Given the description of an element on the screen output the (x, y) to click on. 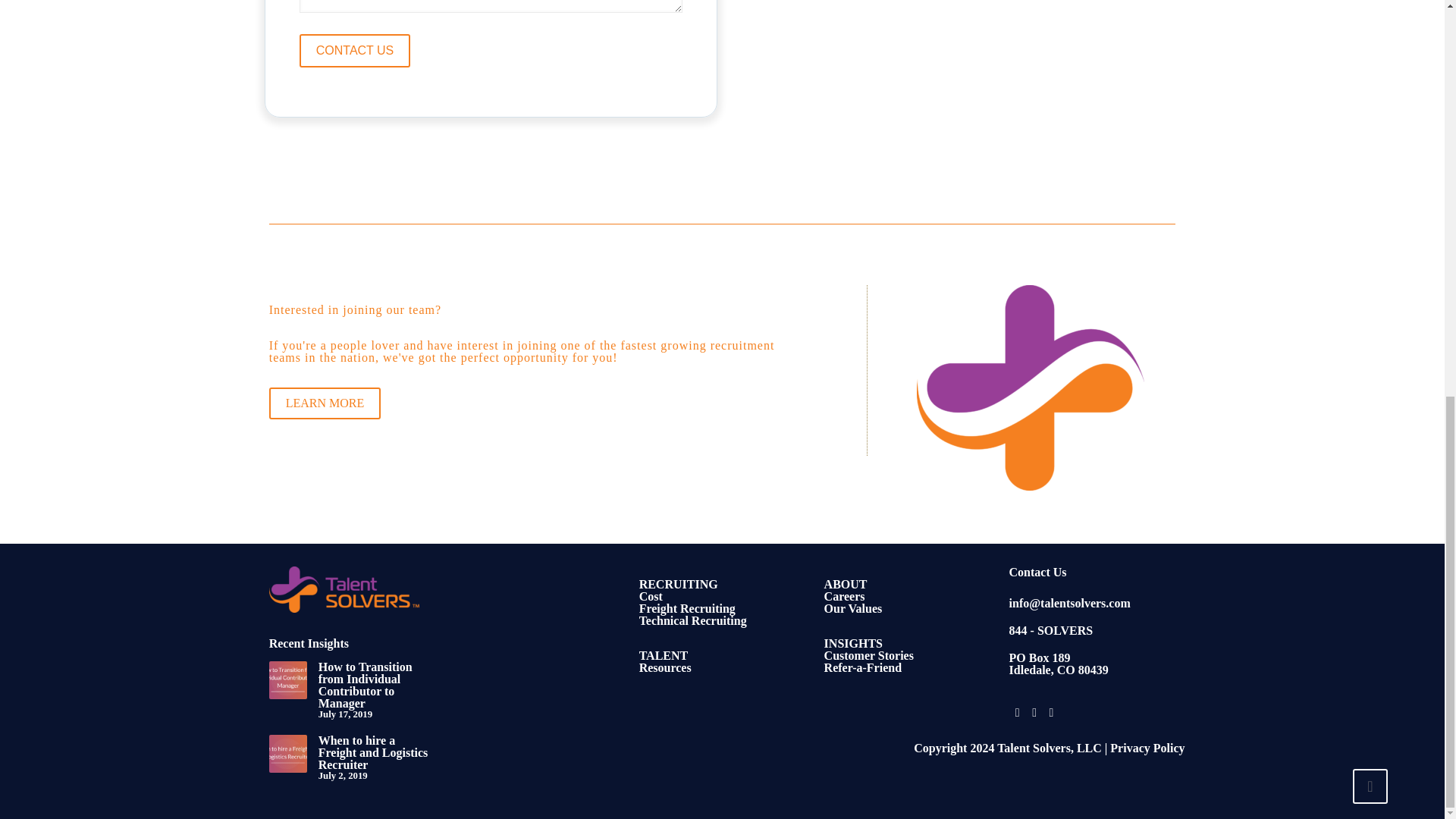
Cost (650, 595)
CONTACT US (354, 50)
Our Values (853, 608)
When to hire a Freight and Logistics Recruiter (373, 752)
CONTACT US (354, 50)
LinkedIn (1050, 712)
Careers (844, 595)
Customer Stories (869, 655)
Freight Recruiting (687, 608)
CrossOnly (1030, 387)
